Given the description of an element on the screen output the (x, y) to click on. 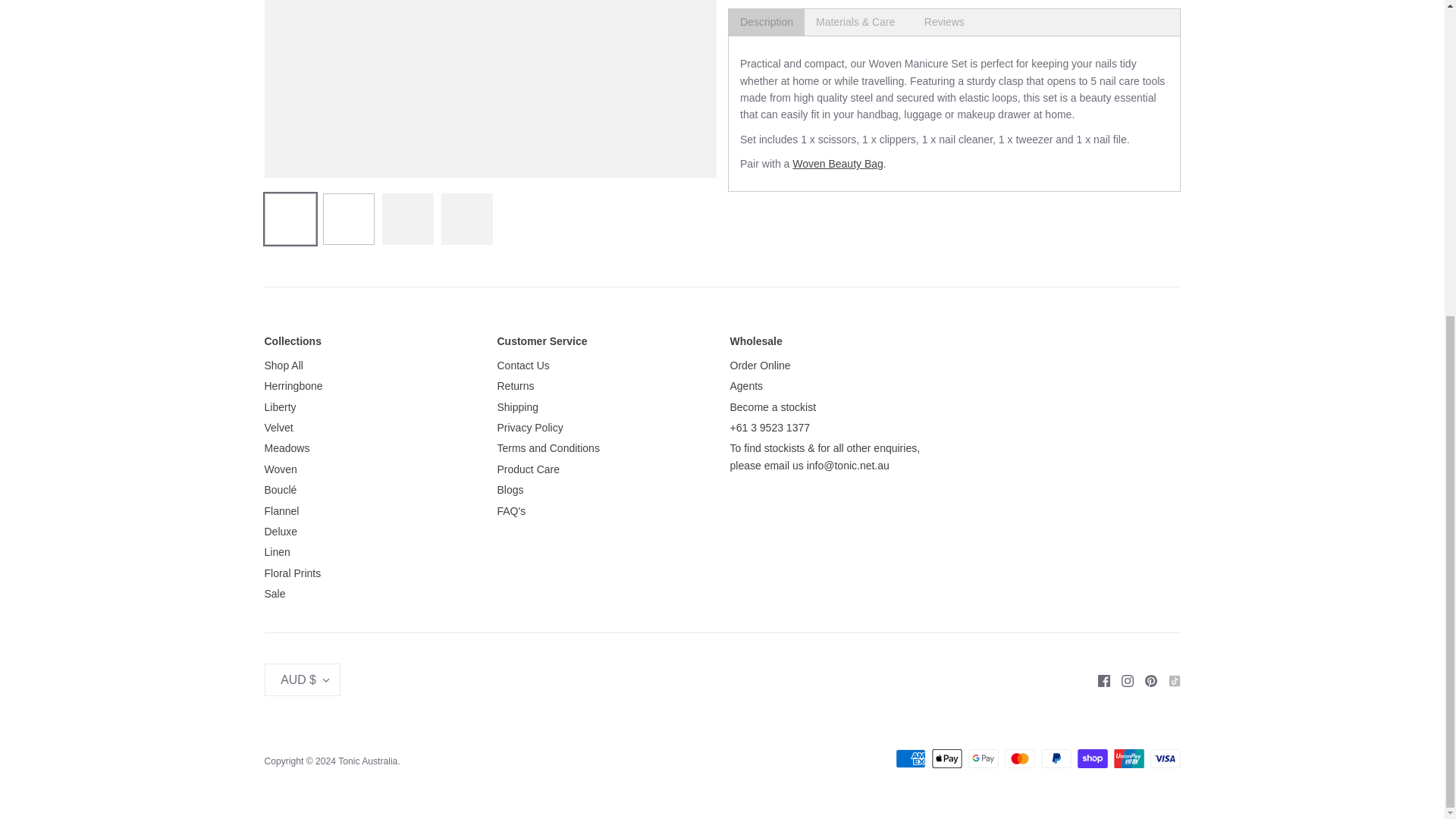
Apple Pay (946, 758)
Small Beauty Bag Woven Peony (837, 163)
Google Pay (983, 758)
Visa (1164, 758)
Union Pay (1128, 758)
PayPal (1056, 758)
Shop Pay (1092, 758)
Mastercard (1019, 758)
American Express (910, 758)
